Given the description of an element on the screen output the (x, y) to click on. 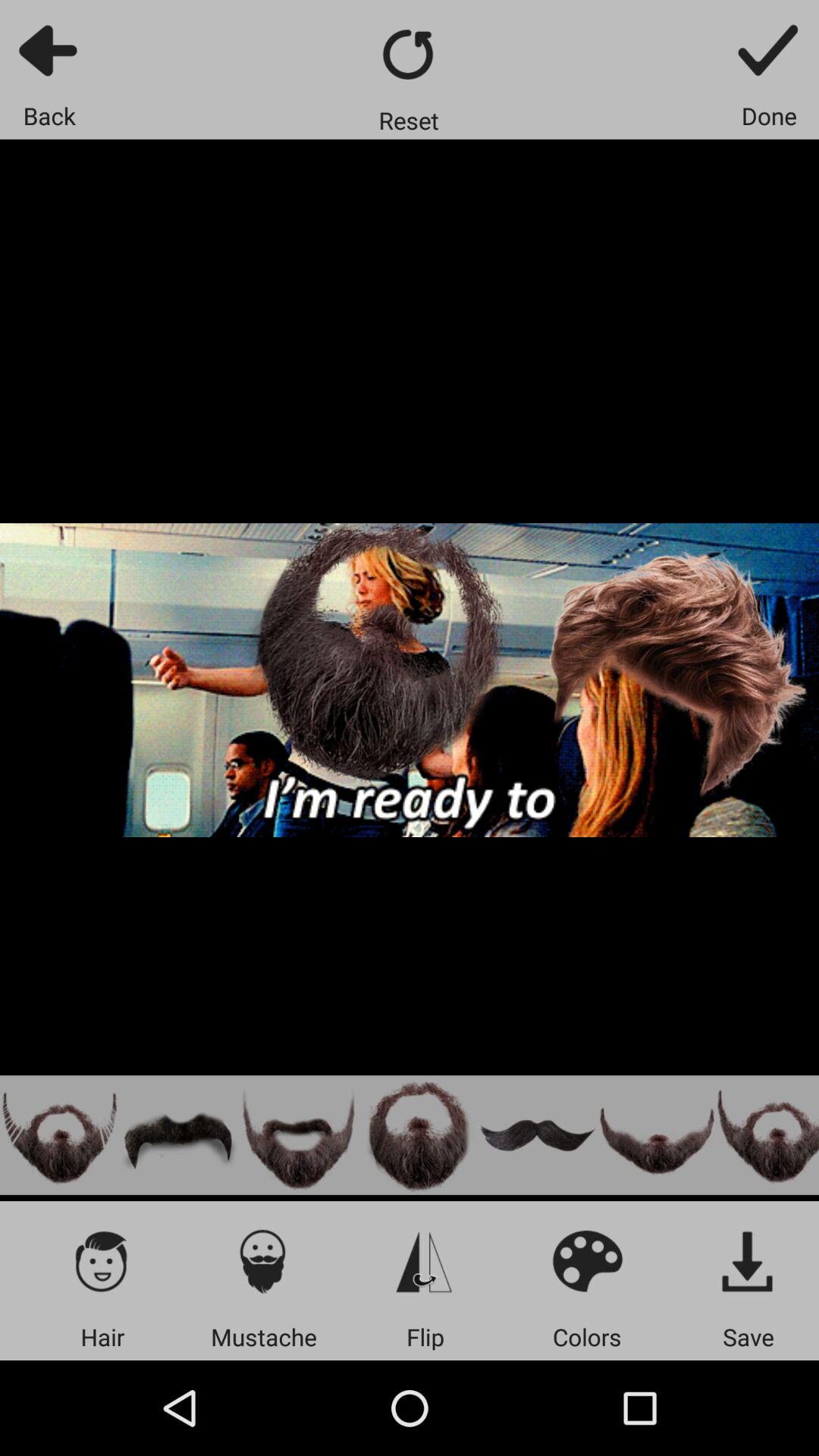
select app above the save icon (748, 1260)
